Given the description of an element on the screen output the (x, y) to click on. 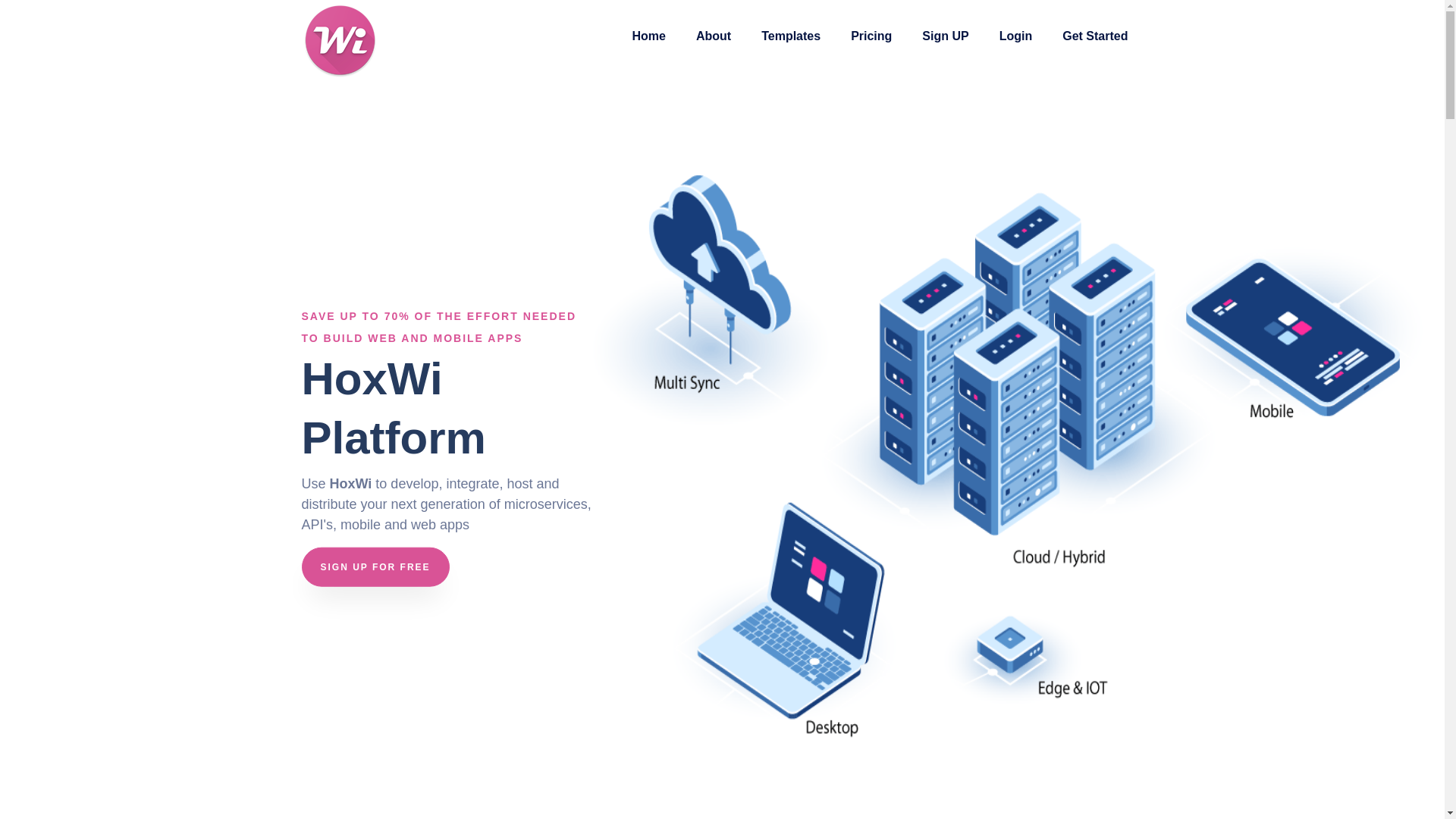
Sign UP (945, 32)
SIGN UP FOR FREE (375, 570)
Home (649, 32)
About (713, 32)
Pricing (871, 32)
Templates (790, 32)
Get Started (1094, 32)
Login (1016, 32)
